Given the description of an element on the screen output the (x, y) to click on. 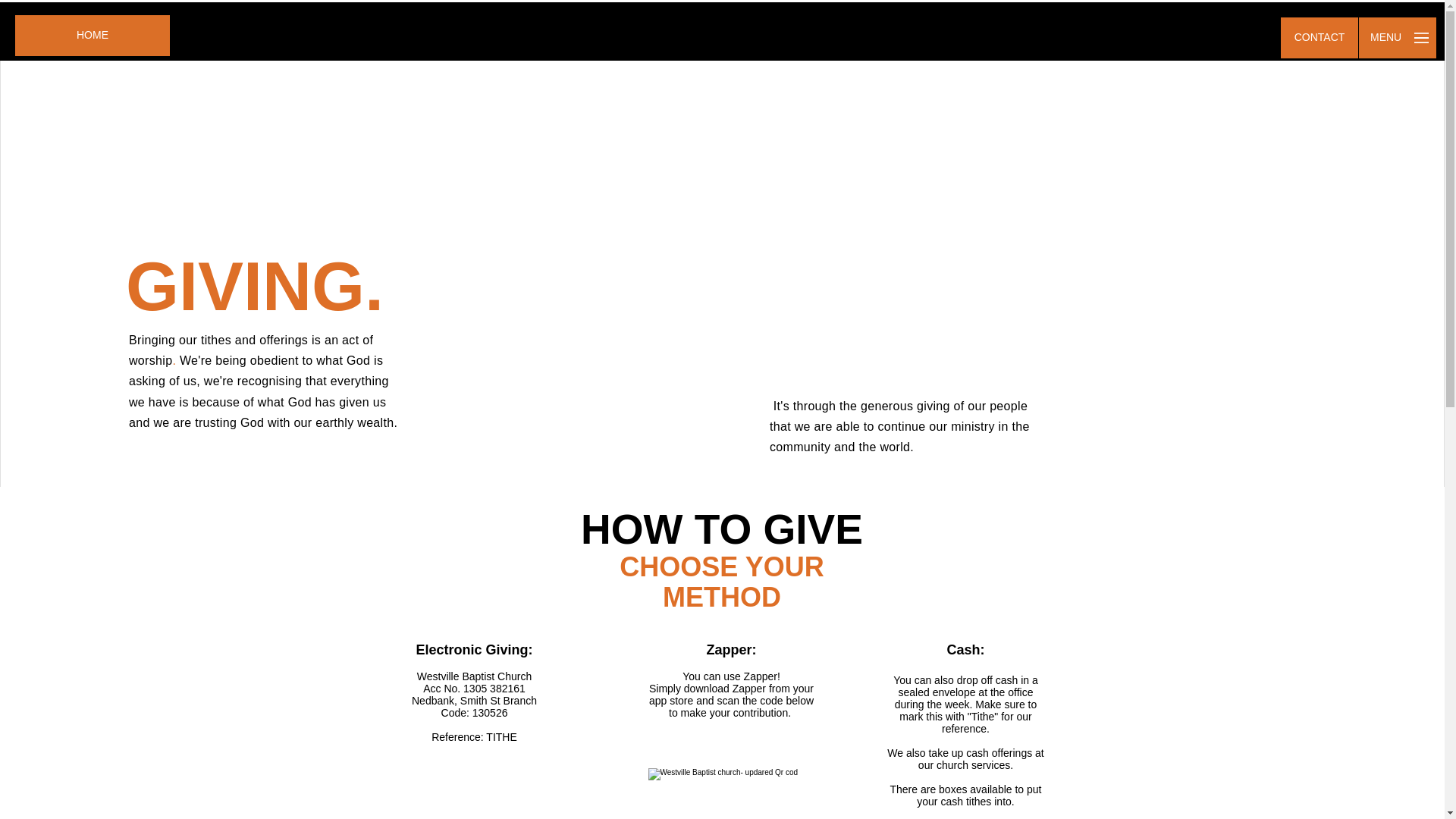
CONTACT (1319, 37)
MENU (1396, 37)
HOME (92, 35)
